Given the description of an element on the screen output the (x, y) to click on. 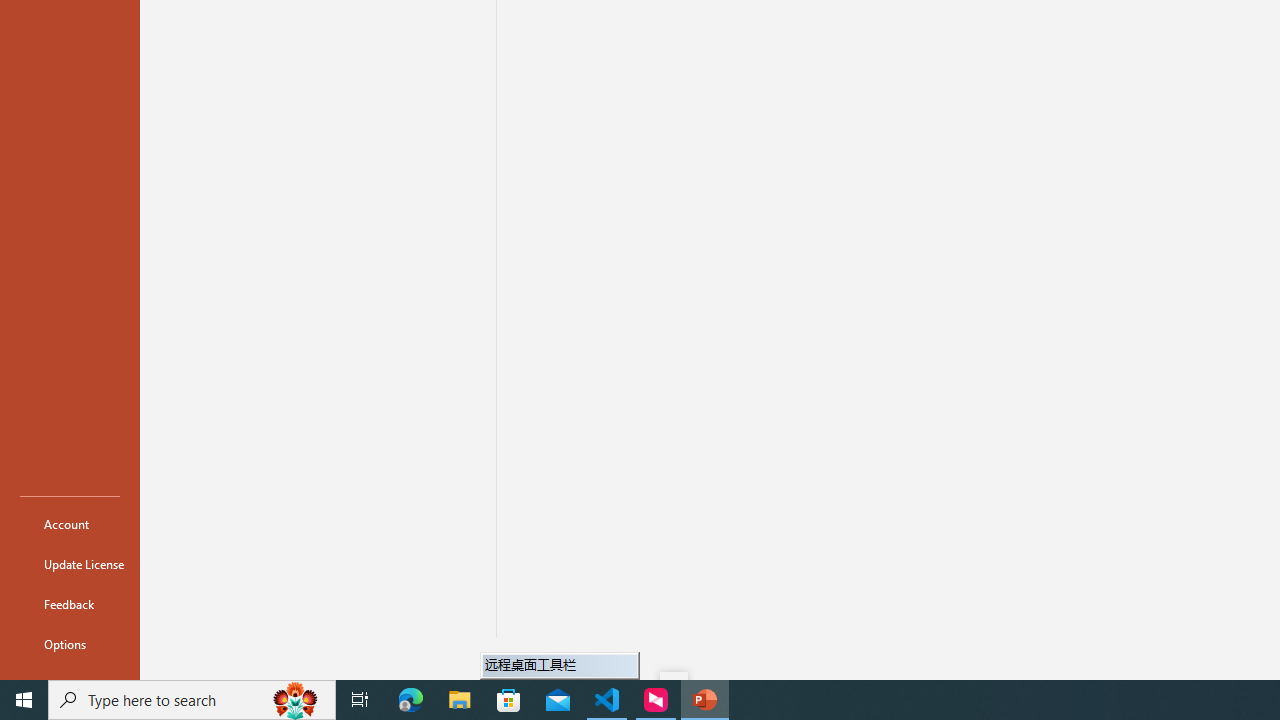
Options (69, 643)
Feedback (69, 603)
Account (69, 523)
Update License (69, 563)
